Given the description of an element on the screen output the (x, y) to click on. 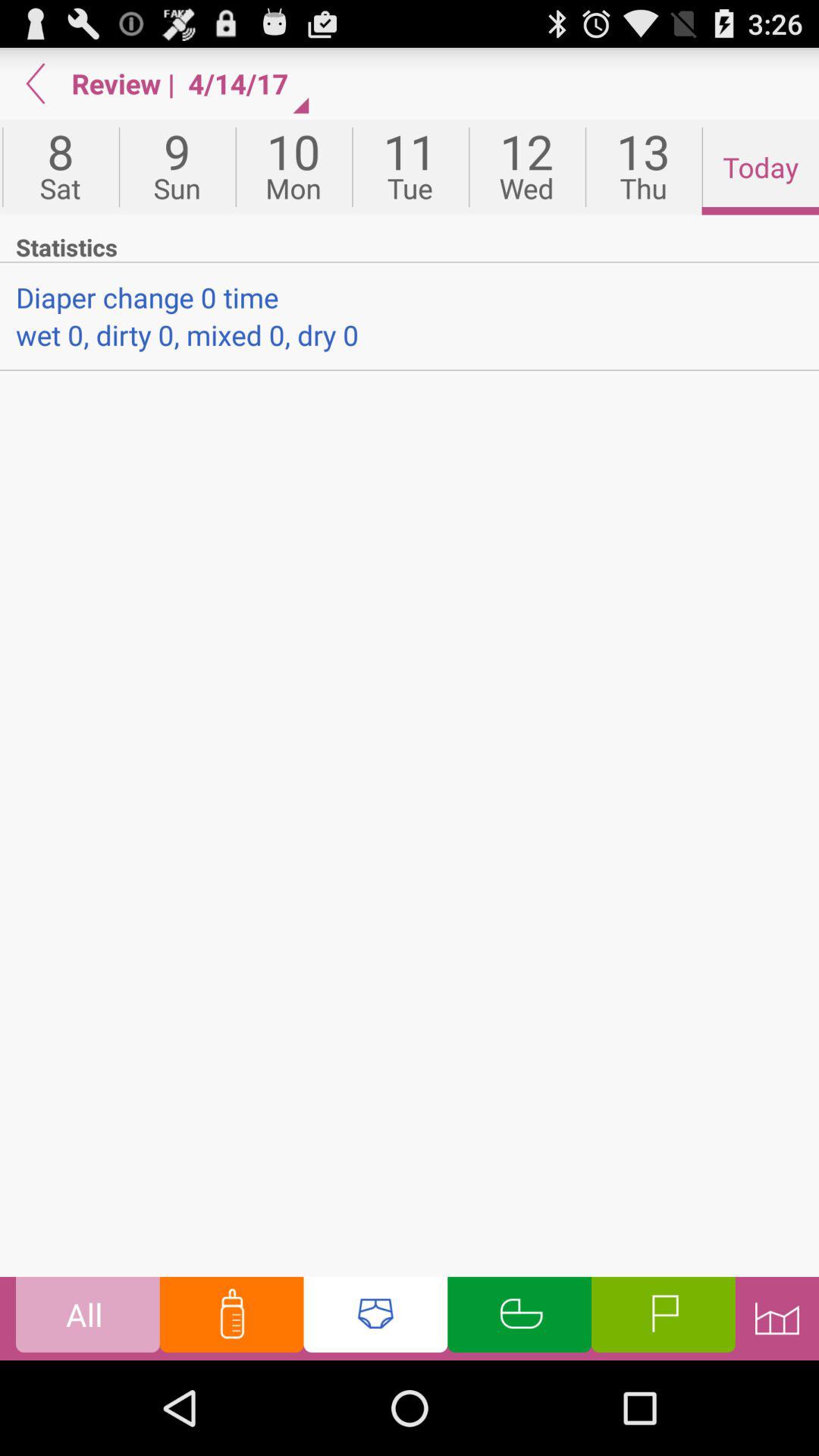
report this viodio (663, 1318)
